Given the description of an element on the screen output the (x, y) to click on. 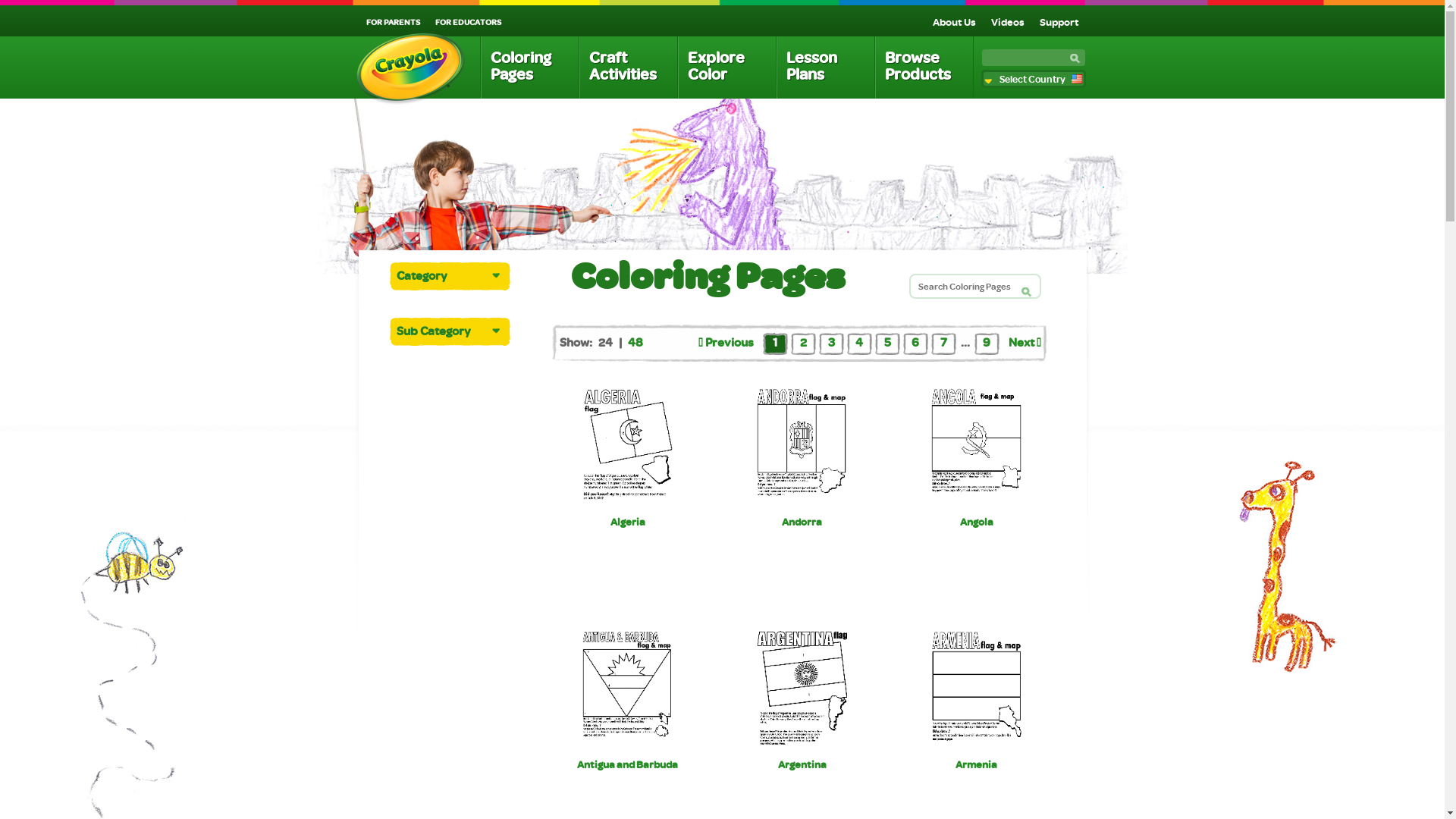
About Us Element type: text (953, 21)
6 Element type: text (915, 341)
FOR EDUCATORS Element type: text (468, 21)
4 Element type: text (858, 341)
7 Element type: text (943, 341)
Videos Element type: text (1006, 21)
Antigua and Barbuda coloring page Element type: hover (626, 687)
Argentina Element type: text (802, 763)
Coloring Pages Element type: text (528, 67)
Lesson Plans Element type: text (824, 67)
Antigua and Barbuda Element type: text (627, 763)
Armenia Element type: text (976, 763)
Craft Activities Element type: text (627, 67)
Angola Element type: text (976, 521)
Category Element type: text (441, 274)
3 Element type: text (831, 341)
Andorra coloring page Element type: hover (801, 445)
Algeria Element type: text (626, 521)
Angola coloring page Element type: hover (975, 445)
Andorra Element type: text (801, 521)
Support Element type: text (1058, 21)
Armenia coloring page Element type: hover (976, 687)
48 Element type: text (635, 341)
Select Country Element type: text (1033, 78)
5 Element type: text (887, 341)
Sub Category Element type: text (441, 330)
1 Element type: text (774, 341)
Argentina coloring page Element type: hover (801, 687)
24 Element type: text (604, 341)
9 Element type: text (986, 341)
FOR PARENTS Element type: text (392, 21)
Explore Color Element type: text (726, 67)
Browse Products Element type: text (923, 67)
Algeria coloring page Element type: hover (626, 445)
2 Element type: text (802, 341)
